Given the description of an element on the screen output the (x, y) to click on. 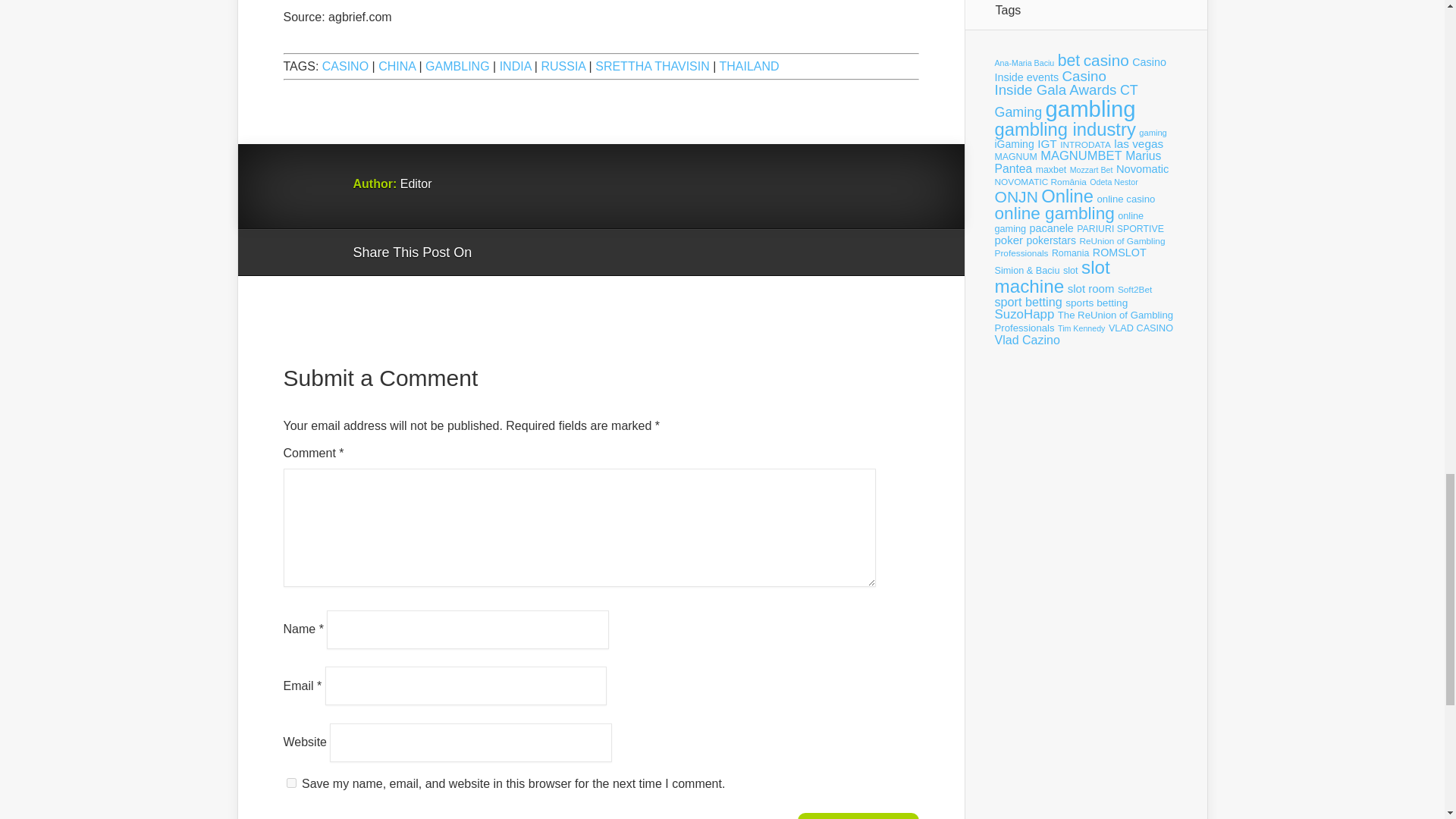
Facebook (526, 252)
INDIA (515, 65)
THAILAND (748, 65)
yes (291, 782)
CASINO (344, 65)
bet (1069, 60)
RUSSIA (562, 65)
Submit Comment (857, 816)
SRETTHA THAVISIN (652, 65)
Ana-Maria Baciu (1024, 62)
